Given the description of an element on the screen output the (x, y) to click on. 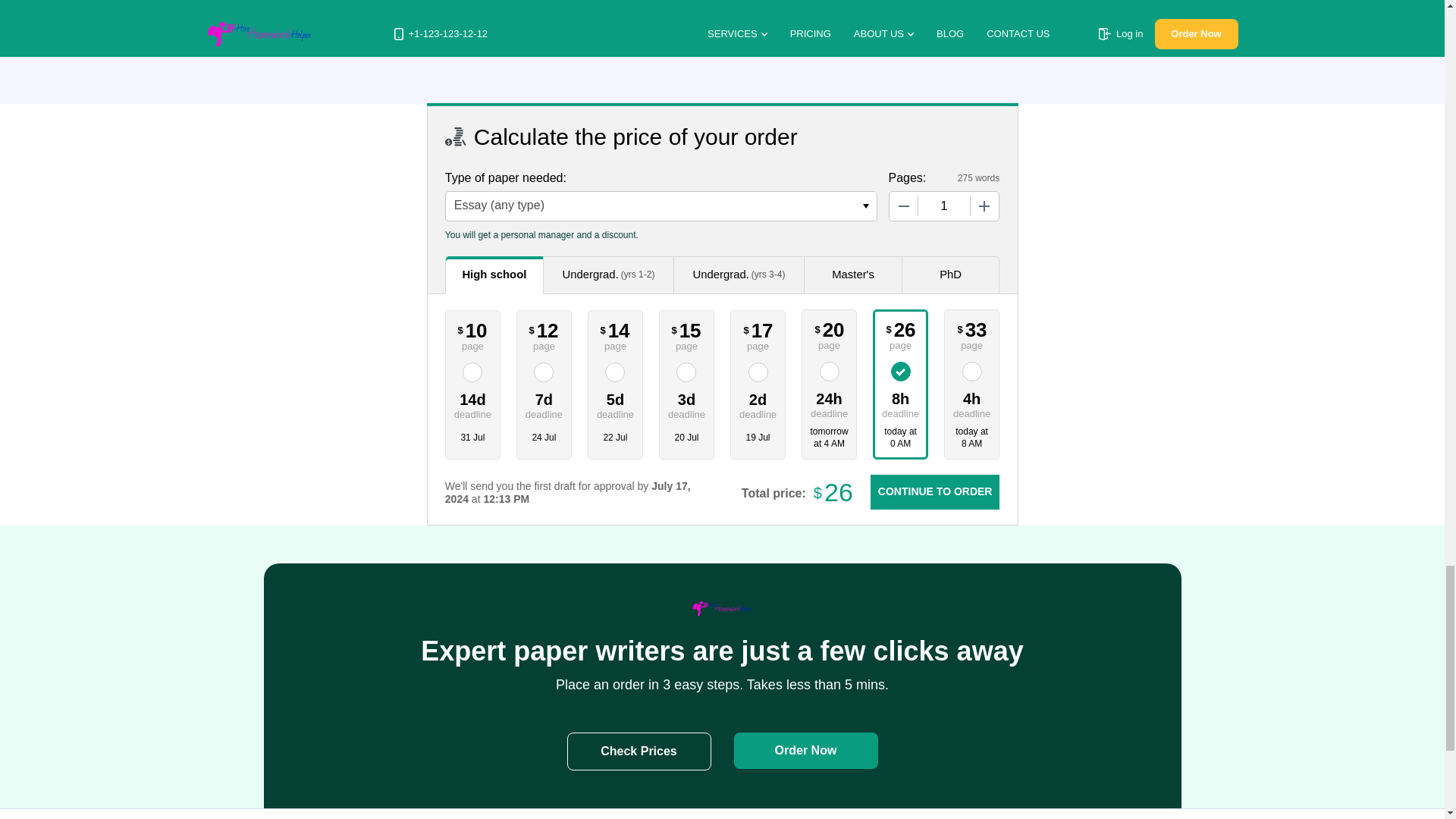
Decrease (902, 205)
Continue to order (934, 492)
Order Now (805, 750)
7 days (544, 404)
Continue to Order (934, 492)
5 days (615, 404)
Continue to order (934, 492)
2 days (757, 404)
4 hours (971, 403)
Increase (983, 205)
3 days (686, 404)
Check Prices (639, 751)
14 days (472, 404)
1 (943, 205)
8 hours (900, 403)
